Given the description of an element on the screen output the (x, y) to click on. 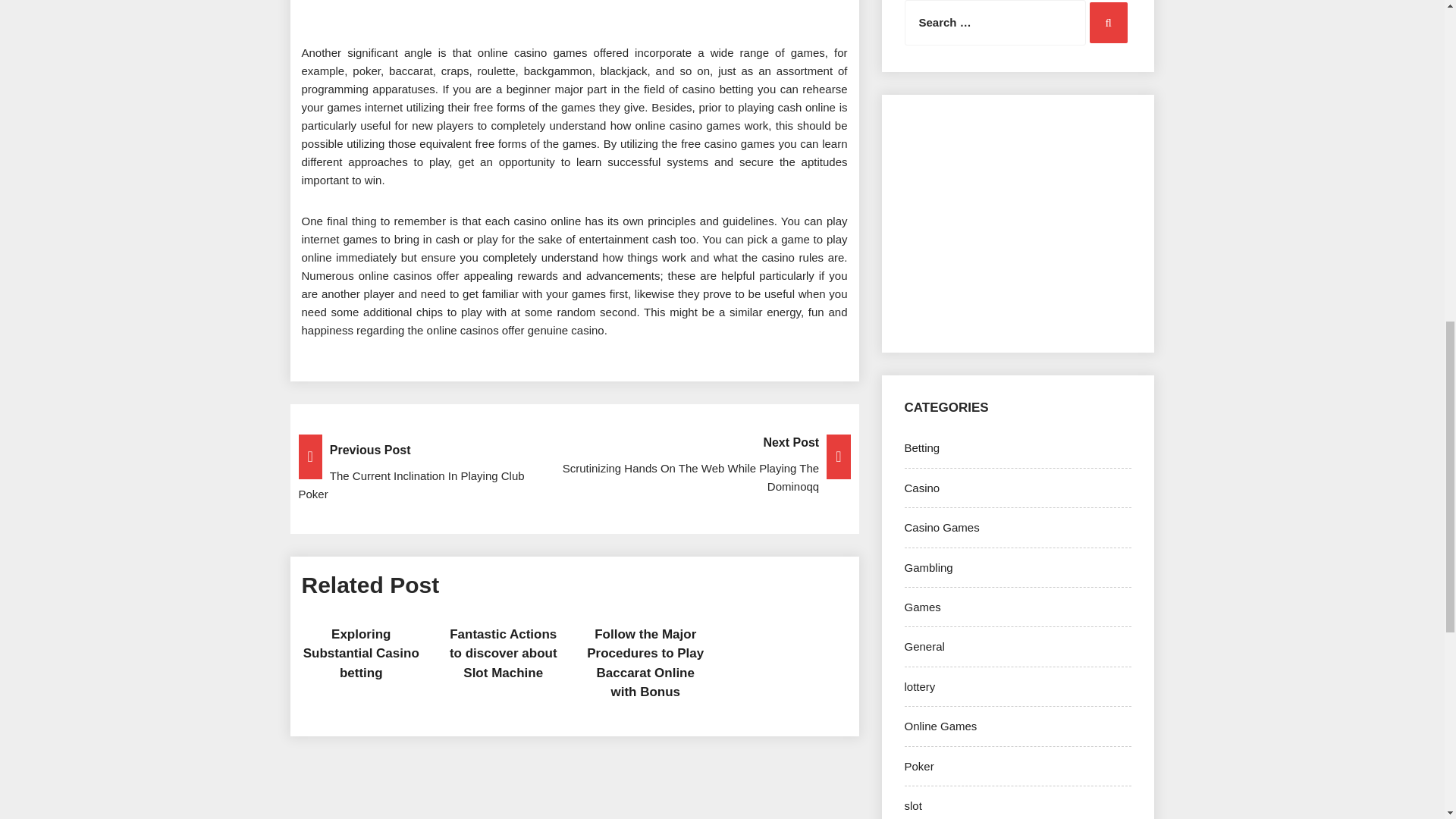
Games (922, 606)
Poker (918, 766)
slot (912, 805)
Search (1107, 22)
Exploring Substantial Casino betting (360, 653)
General (923, 645)
Casino (921, 487)
Fantastic Actions to discover about Slot Machine (503, 653)
Casino Games (941, 526)
Betting (921, 447)
lottery (919, 686)
Online Games (940, 725)
Gambling (928, 567)
